Given the description of an element on the screen output the (x, y) to click on. 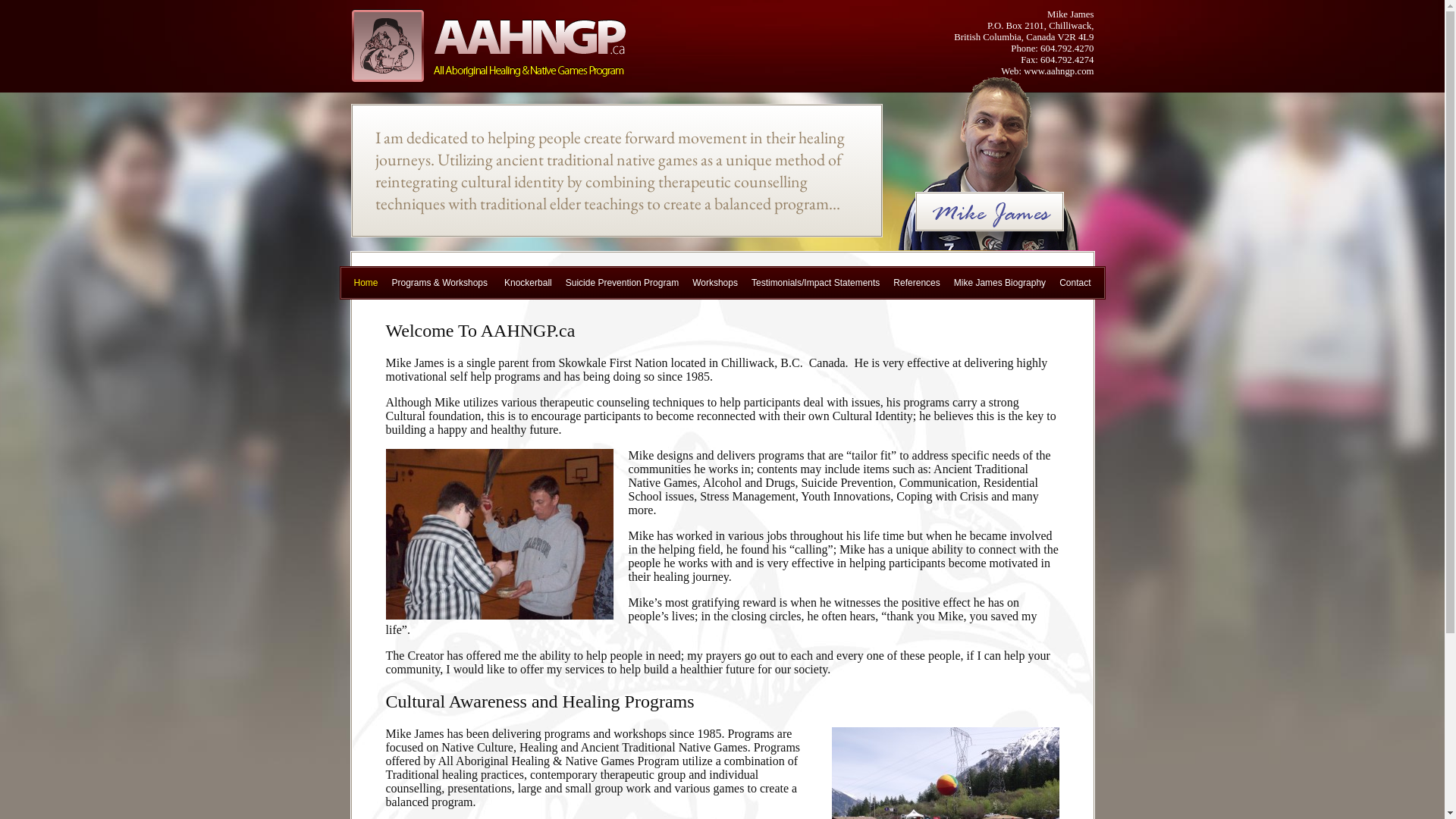
Contact Element type: text (1074, 282)
Testimonials/Impact Statements Element type: text (815, 282)
Programs & Workshops Element type: text (440, 282)
References Element type: text (916, 282)
Knockerball Element type: text (527, 282)
Workshops Element type: text (714, 282)
Home Element type: text (366, 282)
Mike James Biography Element type: text (999, 282)
Suicide Prevention Program Element type: text (621, 282)
